Given the description of an element on the screen output the (x, y) to click on. 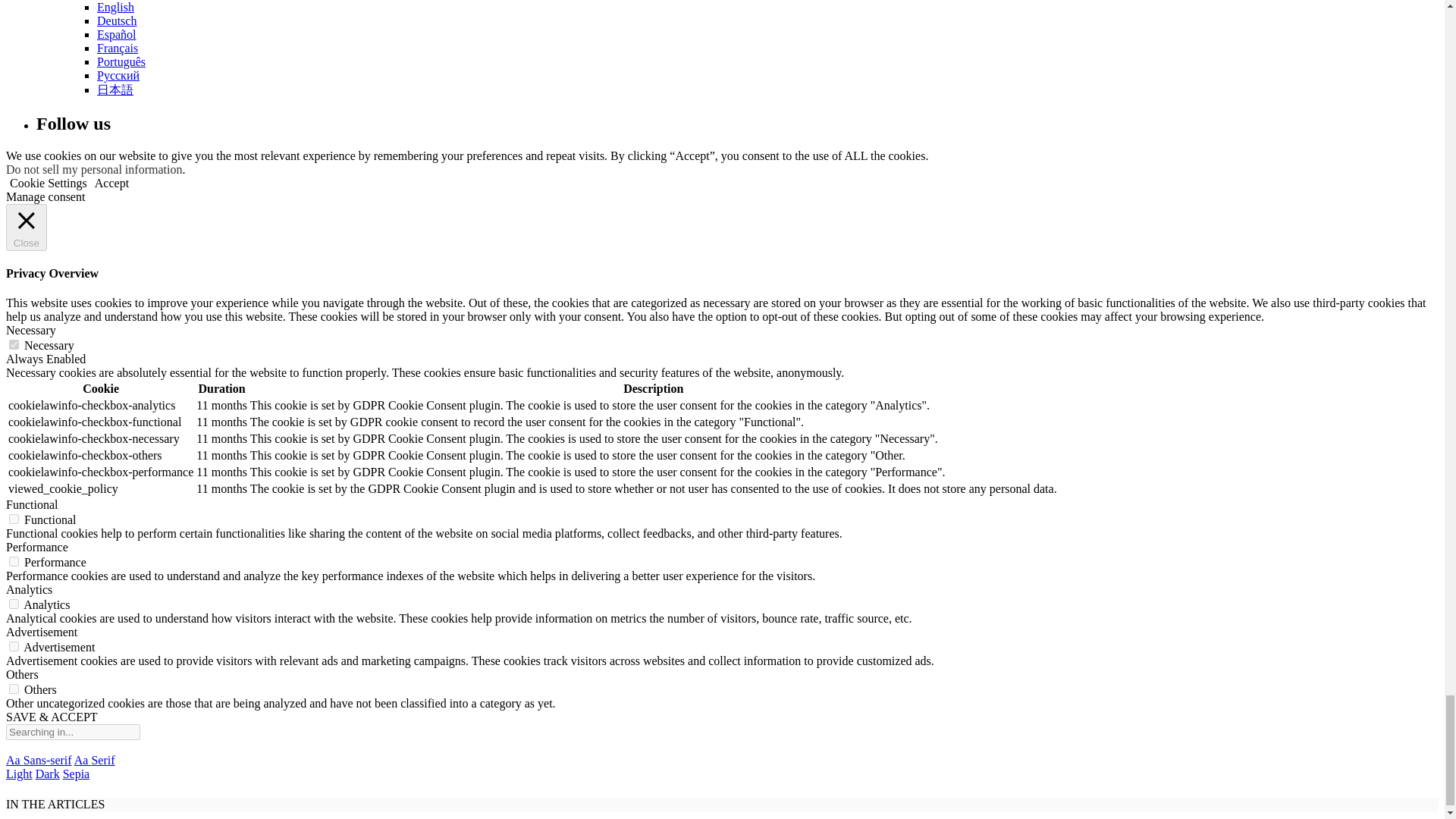
on (13, 561)
on (13, 344)
on (13, 688)
on (13, 519)
on (13, 646)
on (13, 603)
